Given the description of an element on the screen output the (x, y) to click on. 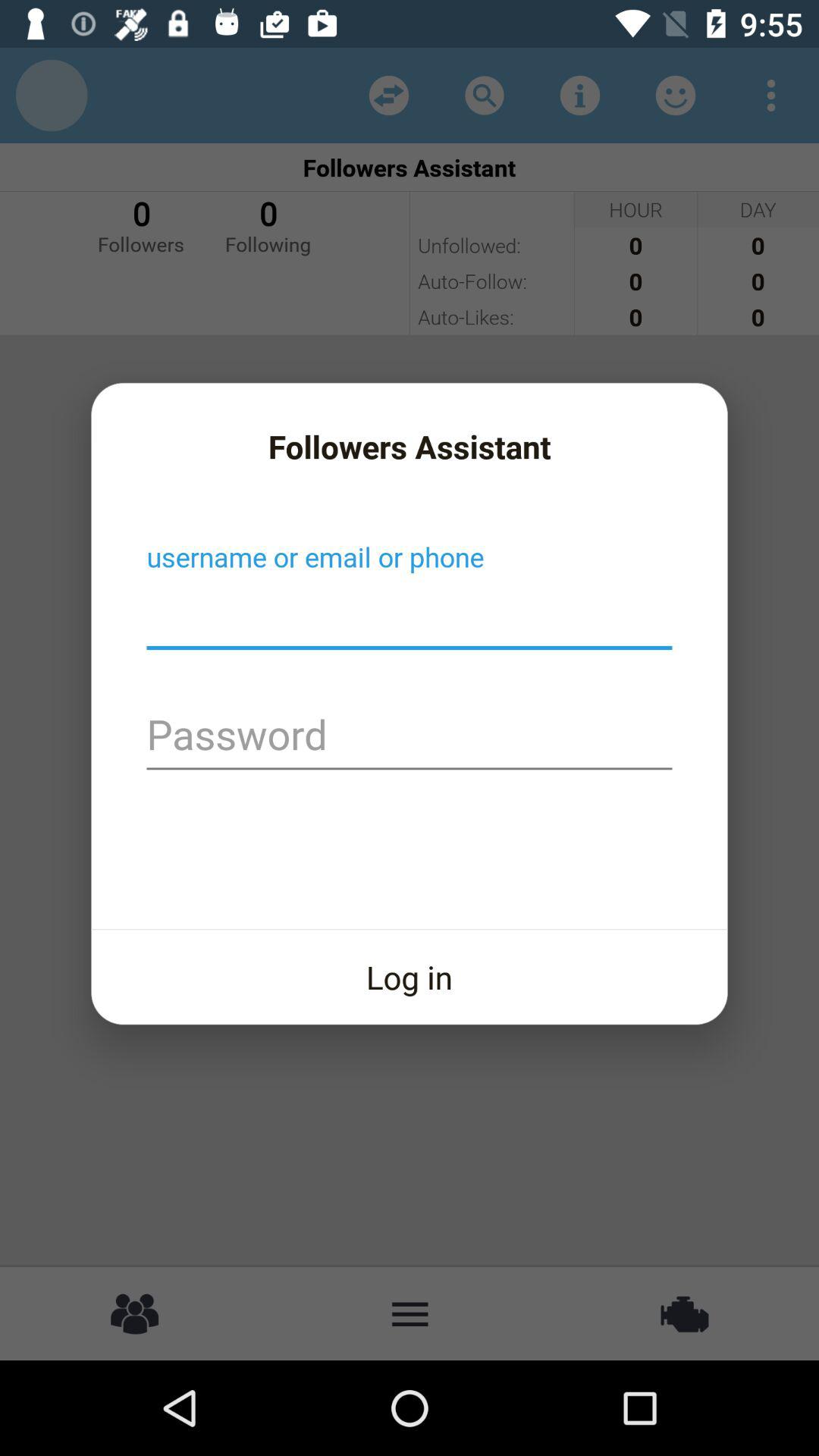
open the new file (409, 615)
